Given the description of an element on the screen output the (x, y) to click on. 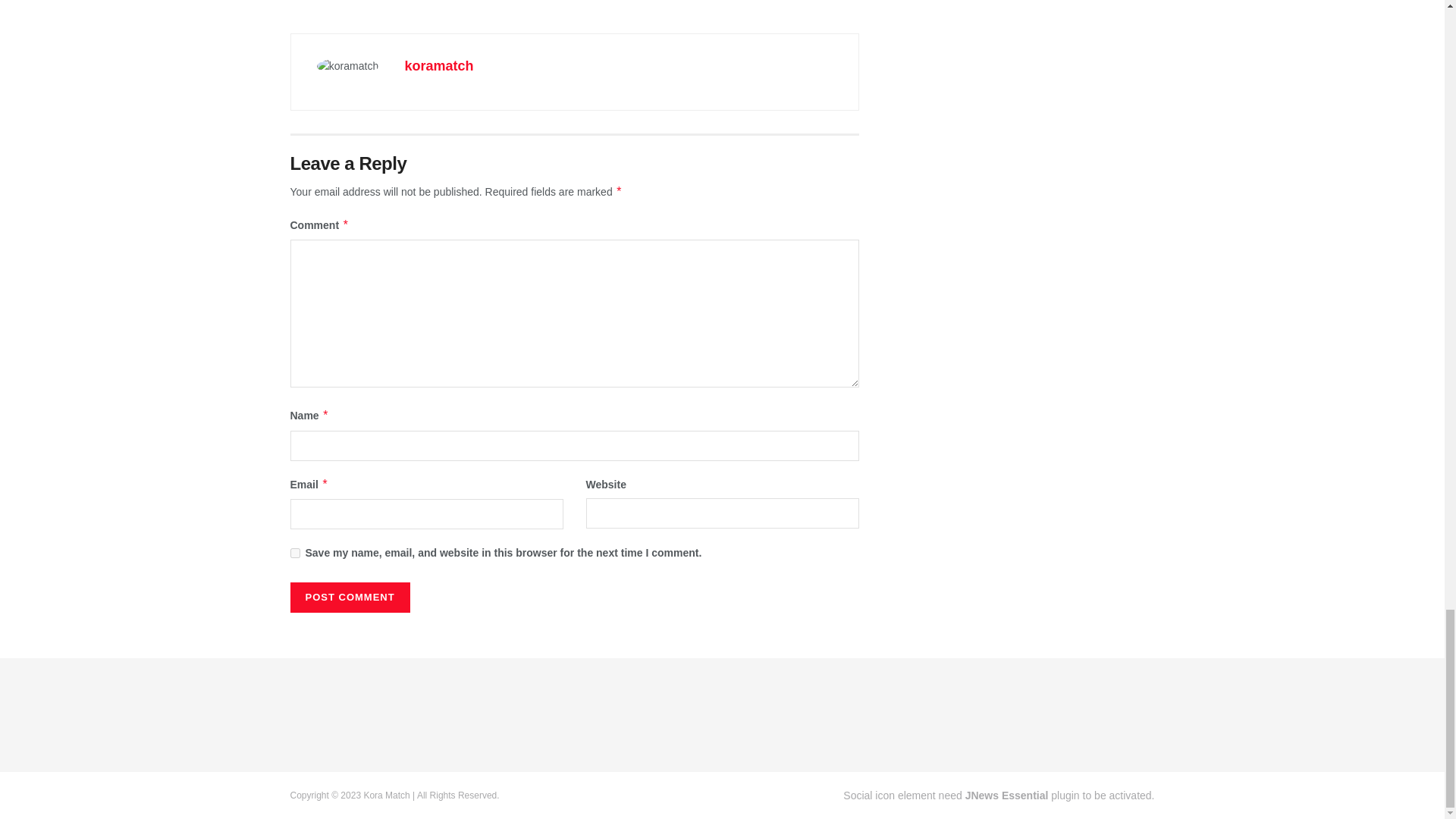
Post Comment (349, 597)
yes (294, 552)
